Given the description of an element on the screen output the (x, y) to click on. 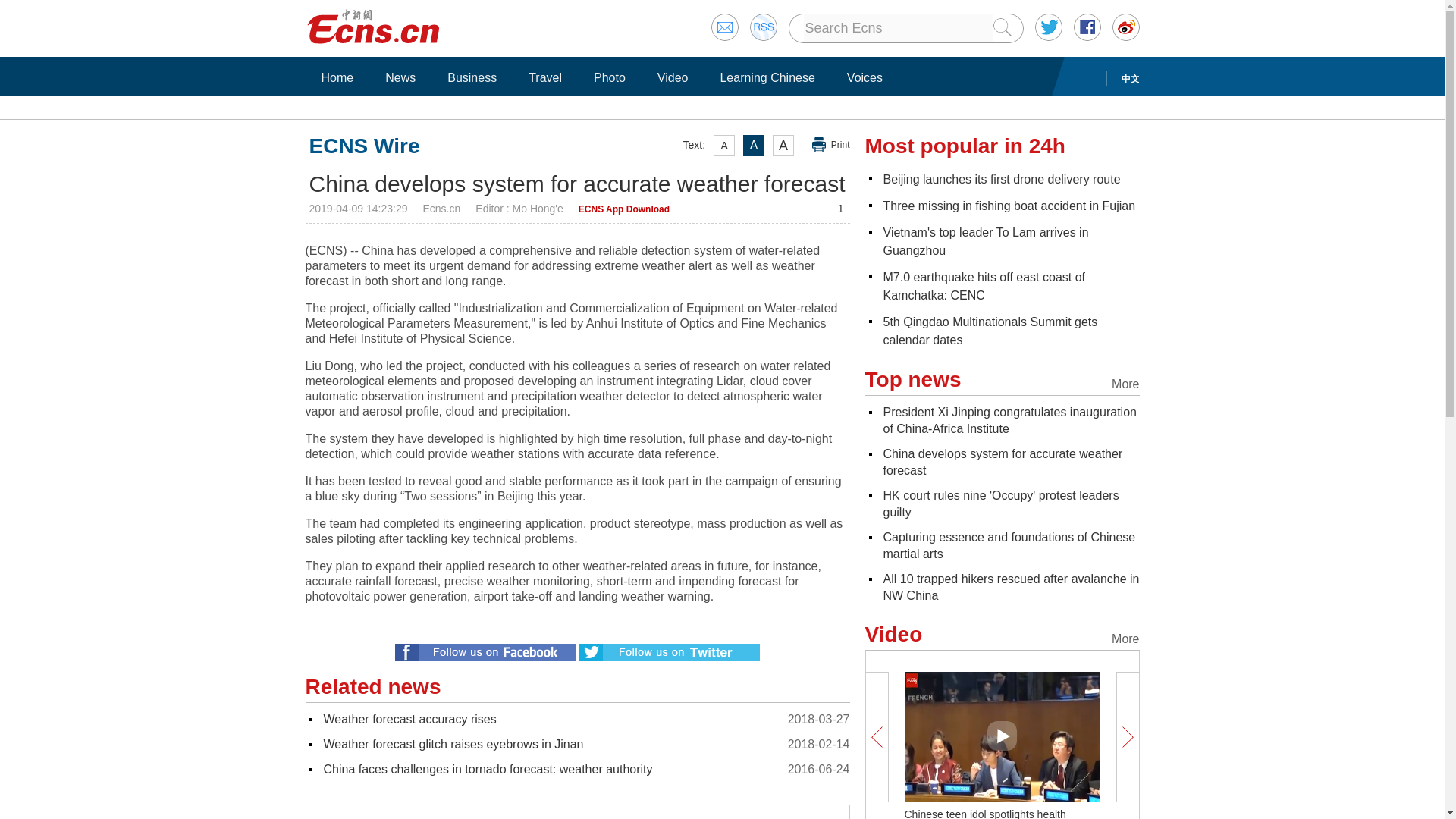
ECNS App Download (623, 208)
Home (337, 77)
More (820, 812)
Video (673, 77)
Print (831, 144)
Business (472, 77)
Weather forecast glitch raises eyebrows in Jinan (453, 744)
Photo (609, 77)
Travel (544, 77)
Learning Chinese (766, 77)
